Given the description of an element on the screen output the (x, y) to click on. 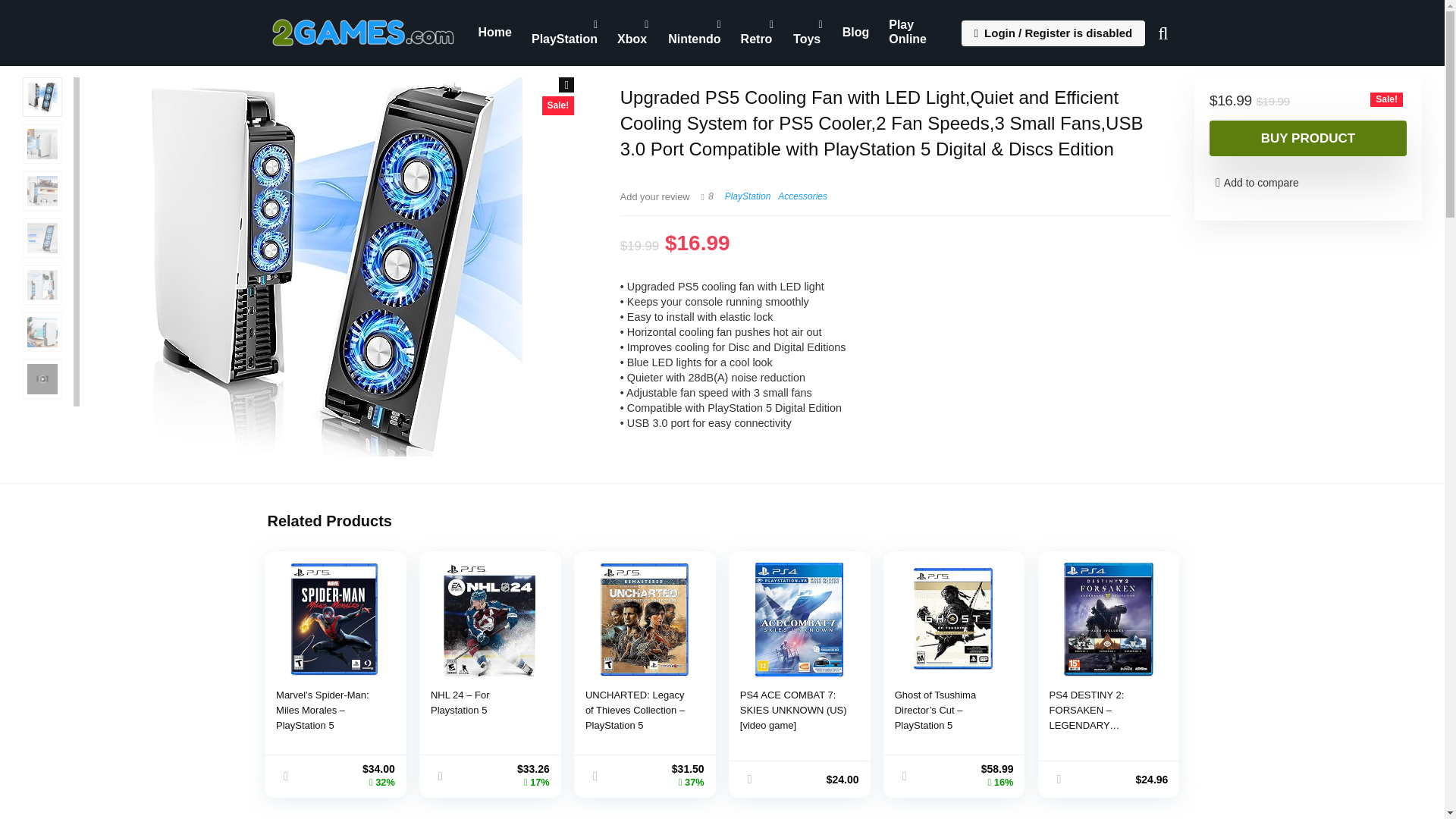
Toys (807, 32)
PlayStation (564, 32)
View all posts in Accessories (802, 195)
Blog (855, 32)
View all posts in PlayStation (748, 195)
Add your review (655, 196)
Xbox (632, 32)
Retro (756, 32)
Home (494, 32)
Play Online (916, 32)
Nintendo (694, 32)
